Given the description of an element on the screen output the (x, y) to click on. 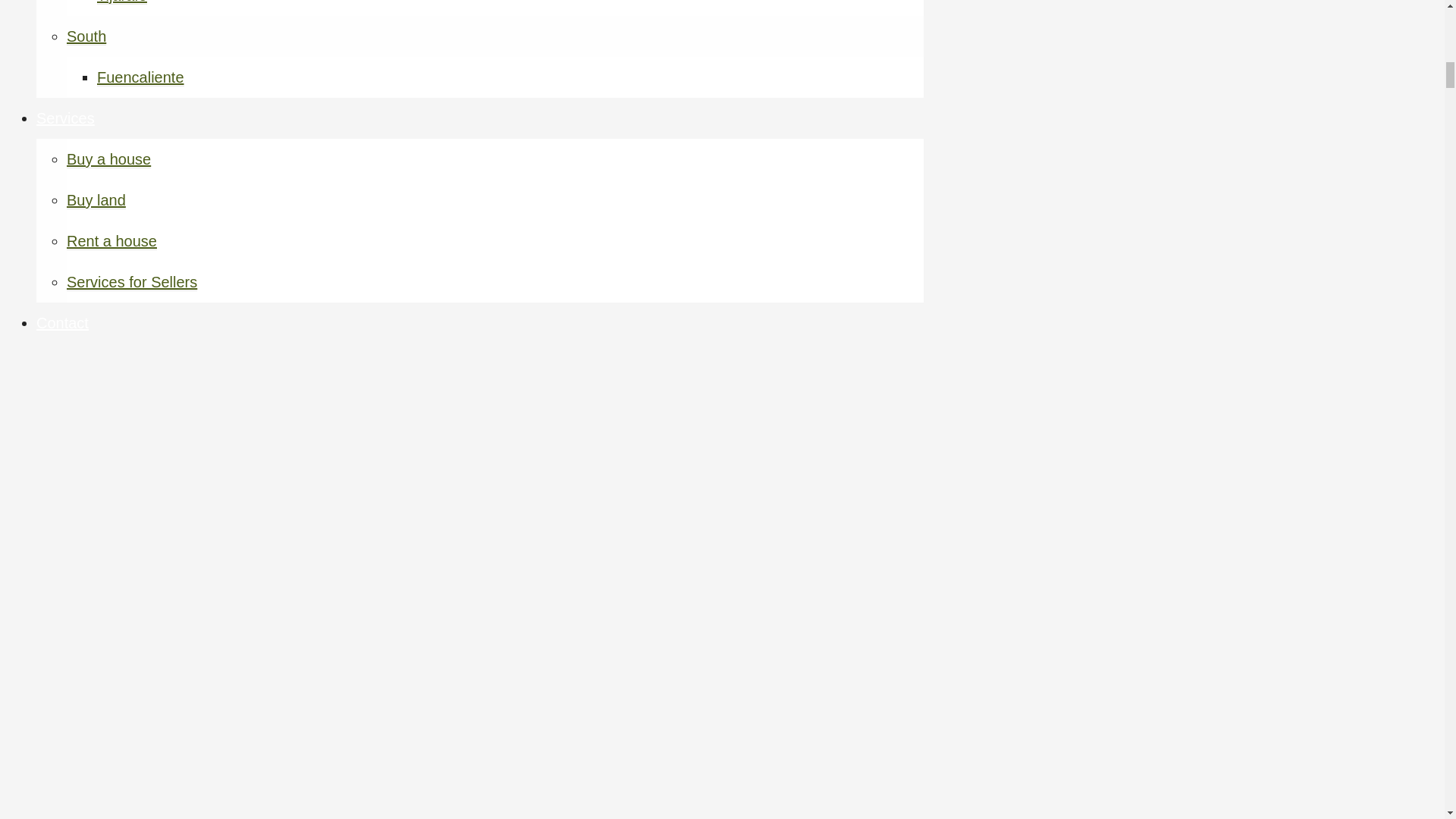
ID1141-00001 (442, 15)
